Given the description of an element on the screen output the (x, y) to click on. 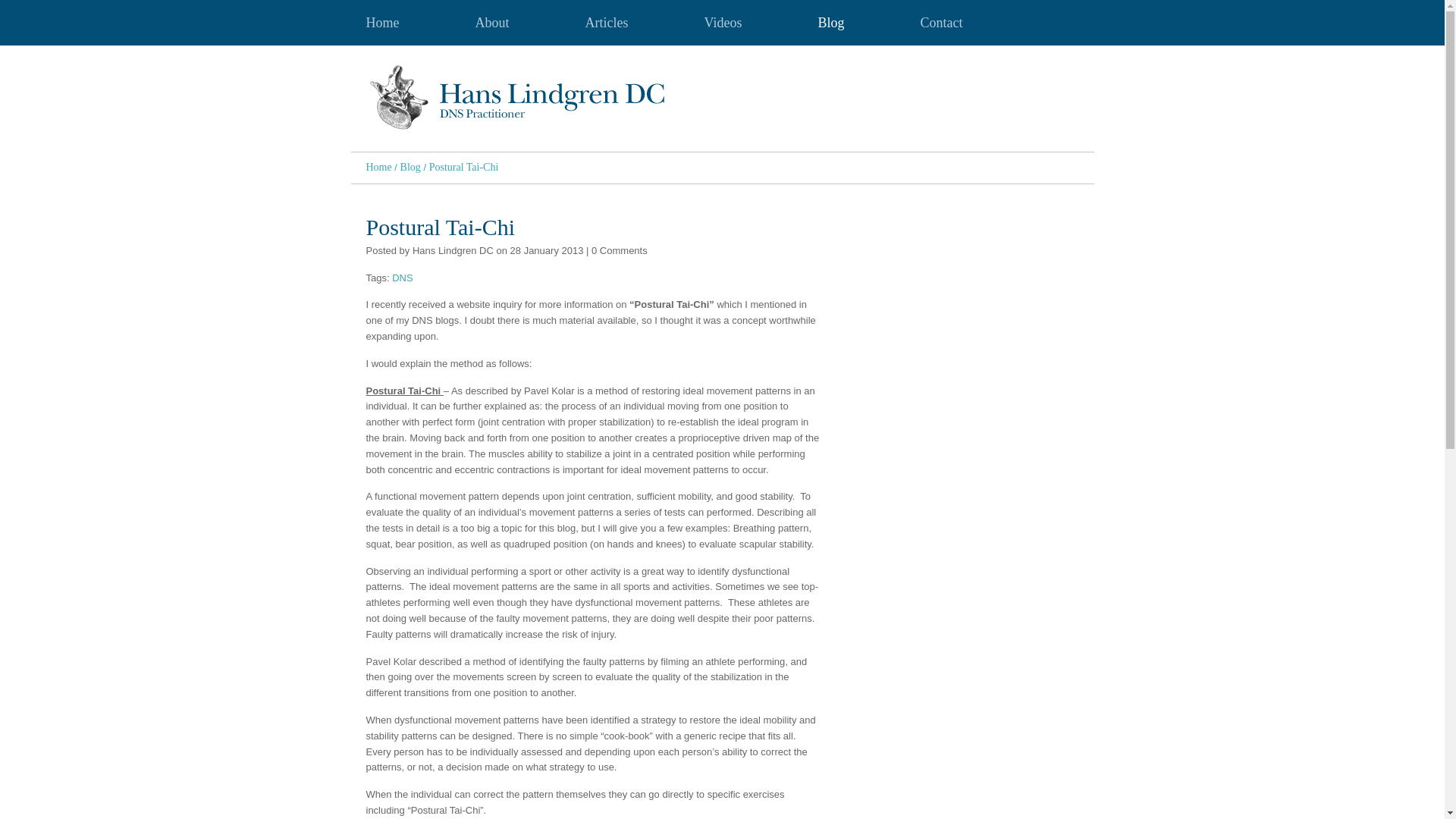
Articles (606, 22)
Blog (410, 166)
Go to the Contact page (941, 22)
Postural Tai-Chi (464, 166)
Go to the Articles page (606, 22)
Home (378, 166)
DNS (401, 277)
Contact (941, 22)
View all posts tagged 'DNS' (401, 277)
